Given the description of an element on the screen output the (x, y) to click on. 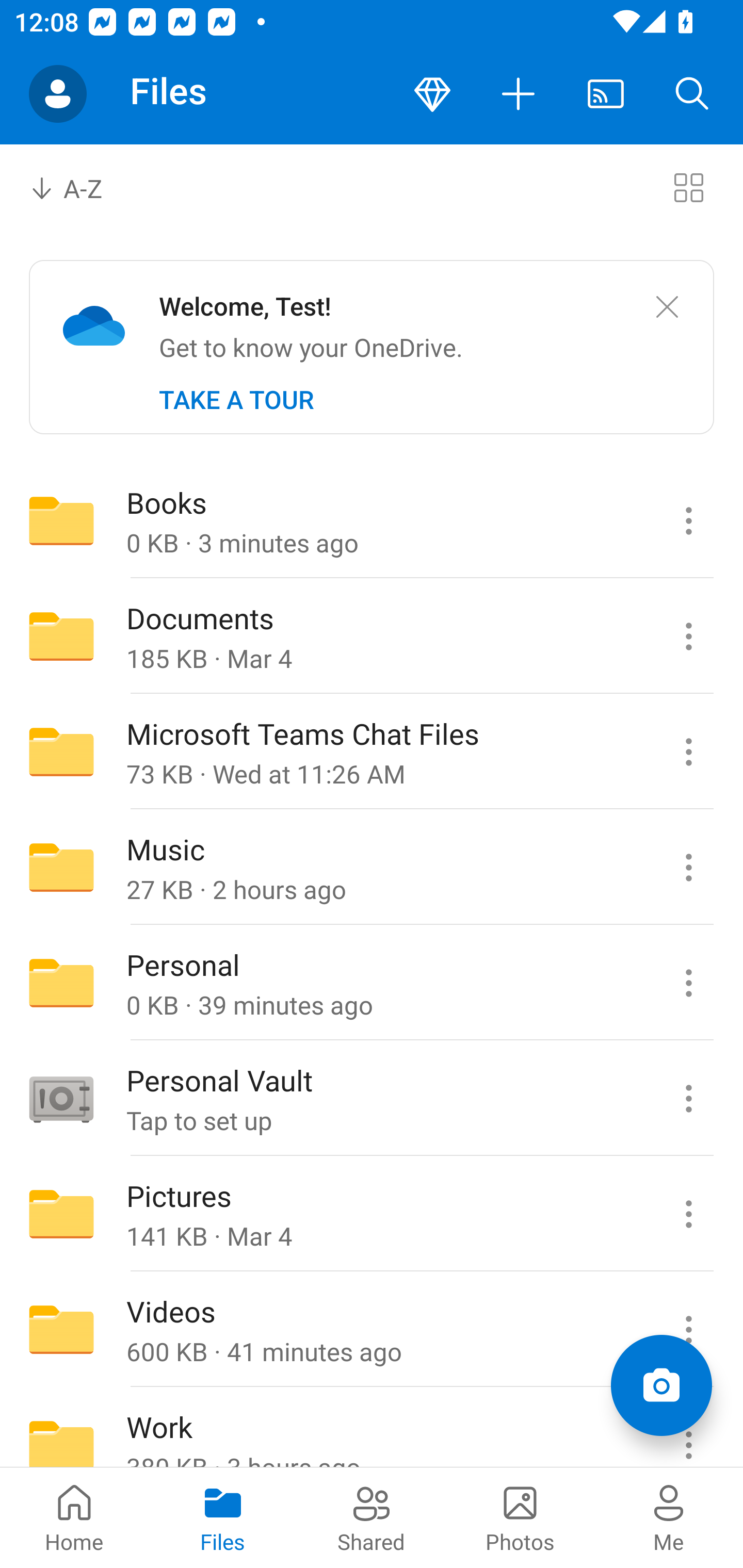
Account switcher (57, 93)
Cast. Disconnected (605, 93)
Premium button (432, 93)
More actions button (518, 93)
Search button (692, 93)
A-Z Sort by combo box, sort by name, A to Z (80, 187)
Switch to tiles view (688, 187)
Close (667, 307)
TAKE A TOUR (236, 399)
Folder Books 0 KB · 3 minutes ago Books commands (371, 520)
Books commands (688, 520)
Folder Documents 185 KB · Mar 4 Documents commands (371, 636)
Documents commands (688, 636)
Microsoft Teams Chat Files commands (688, 751)
Folder Music 27 KB · 2 hours ago Music commands (371, 867)
Music commands (688, 867)
Personal commands (688, 983)
Personal Vault commands (688, 1099)
Folder Pictures 141 KB · Mar 4 Pictures commands (371, 1214)
Pictures commands (688, 1214)
Videos commands (688, 1329)
Add items Scan (660, 1385)
Folder Work 380 KB · 3 hours ago Work commands (371, 1427)
Work commands (688, 1427)
Home pivot Home (74, 1517)
Shared pivot Shared (371, 1517)
Photos pivot Photos (519, 1517)
Me pivot Me (668, 1517)
